Given the description of an element on the screen output the (x, y) to click on. 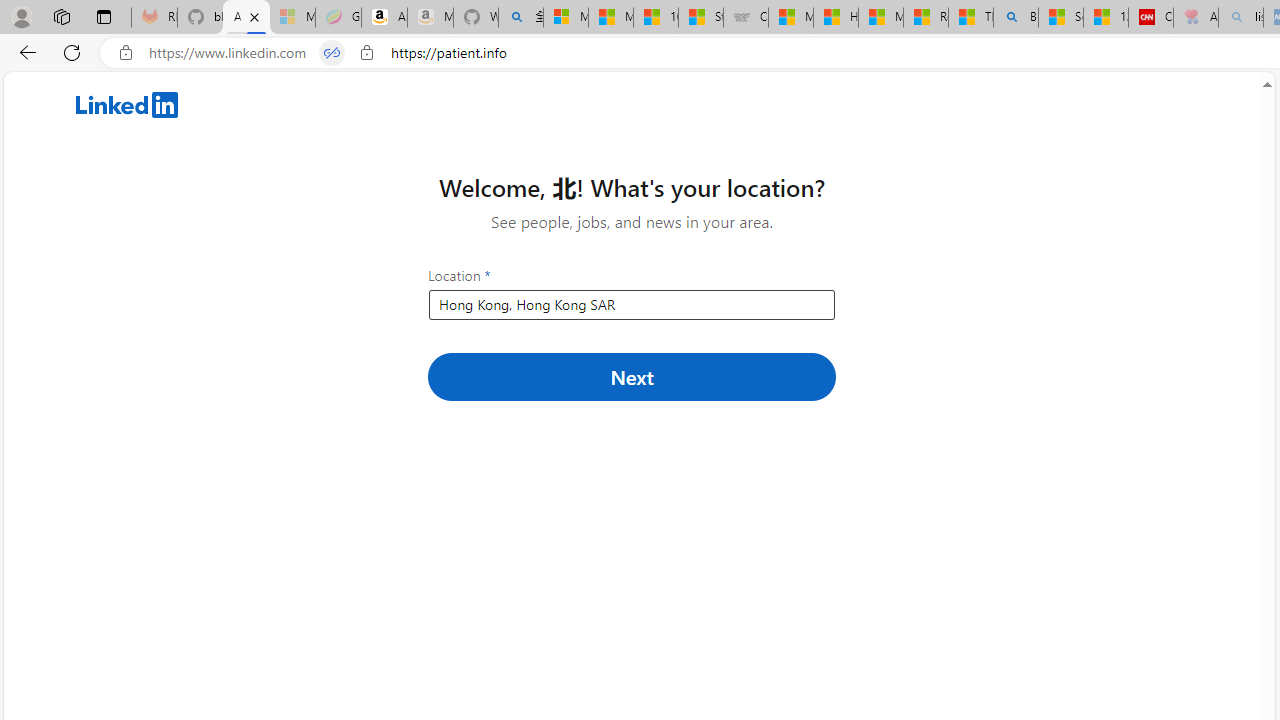
Tabs in split screen (331, 53)
Asthma Inhalers: Names and Types (246, 17)
Arthritis: Ask Health Professionals - Sleeping (1195, 17)
Recipes - MSN (925, 17)
